Given the description of an element on the screen output the (x, y) to click on. 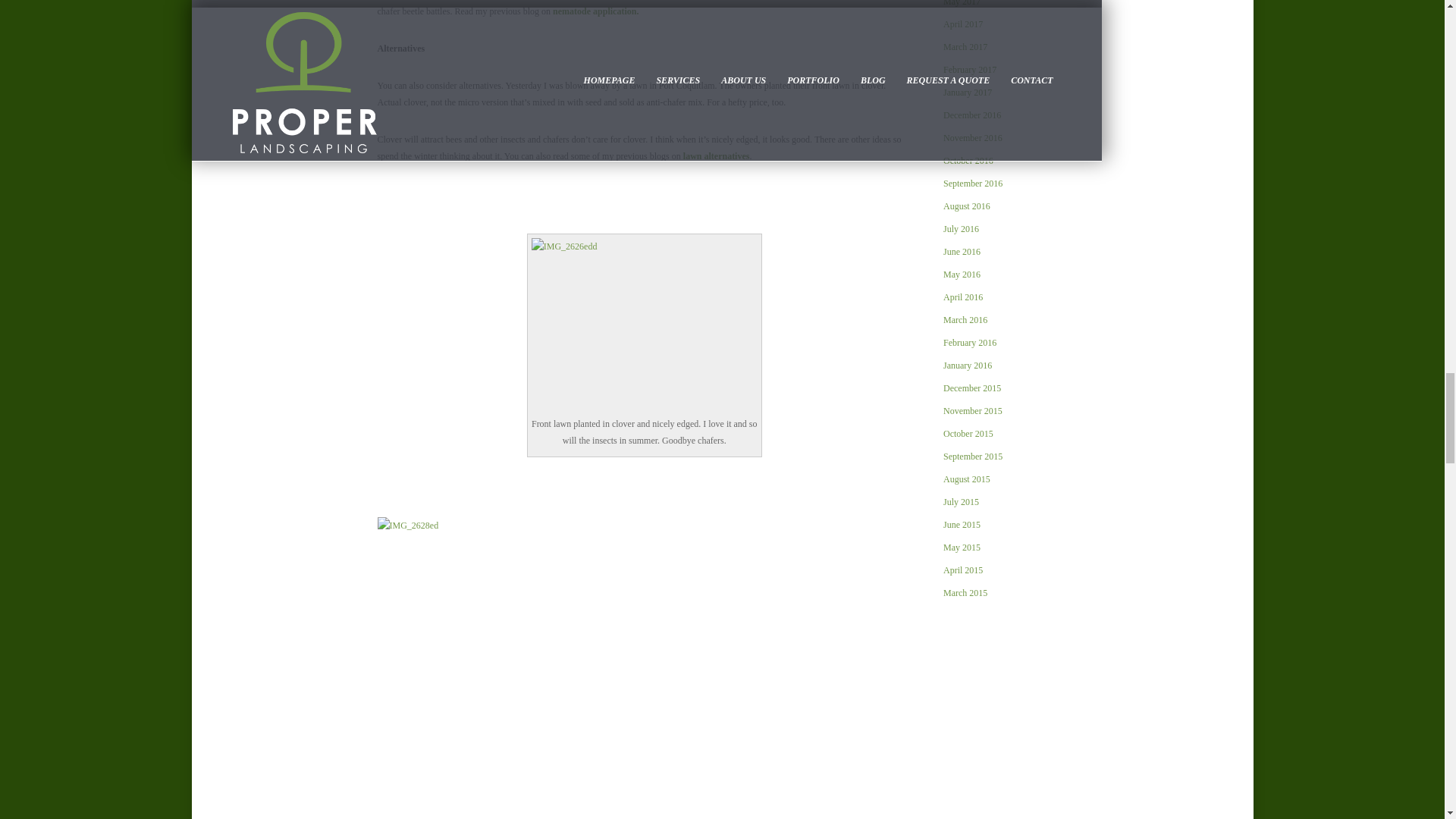
nematode application. (596, 10)
